Given the description of an element on the screen output the (x, y) to click on. 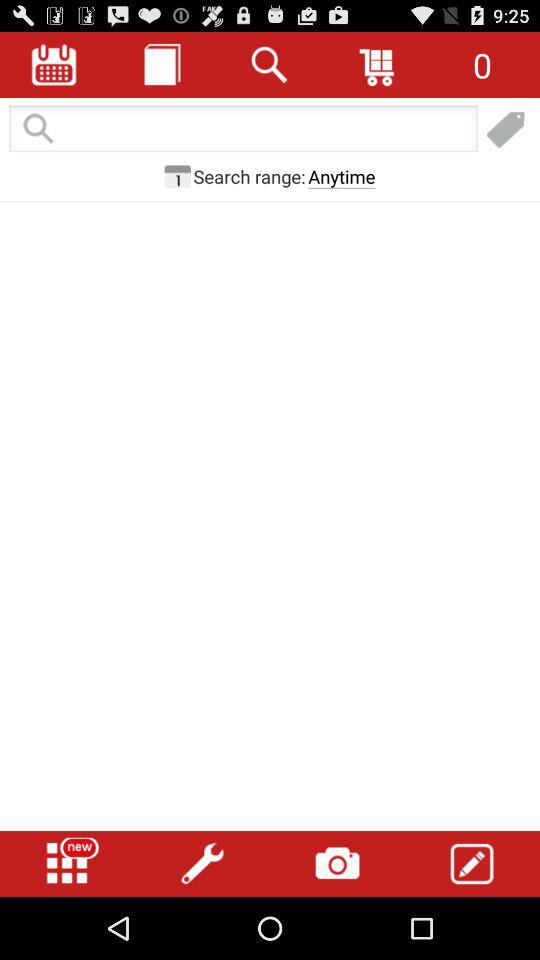
select item to the left of 0 app (377, 64)
